Given the description of an element on the screen output the (x, y) to click on. 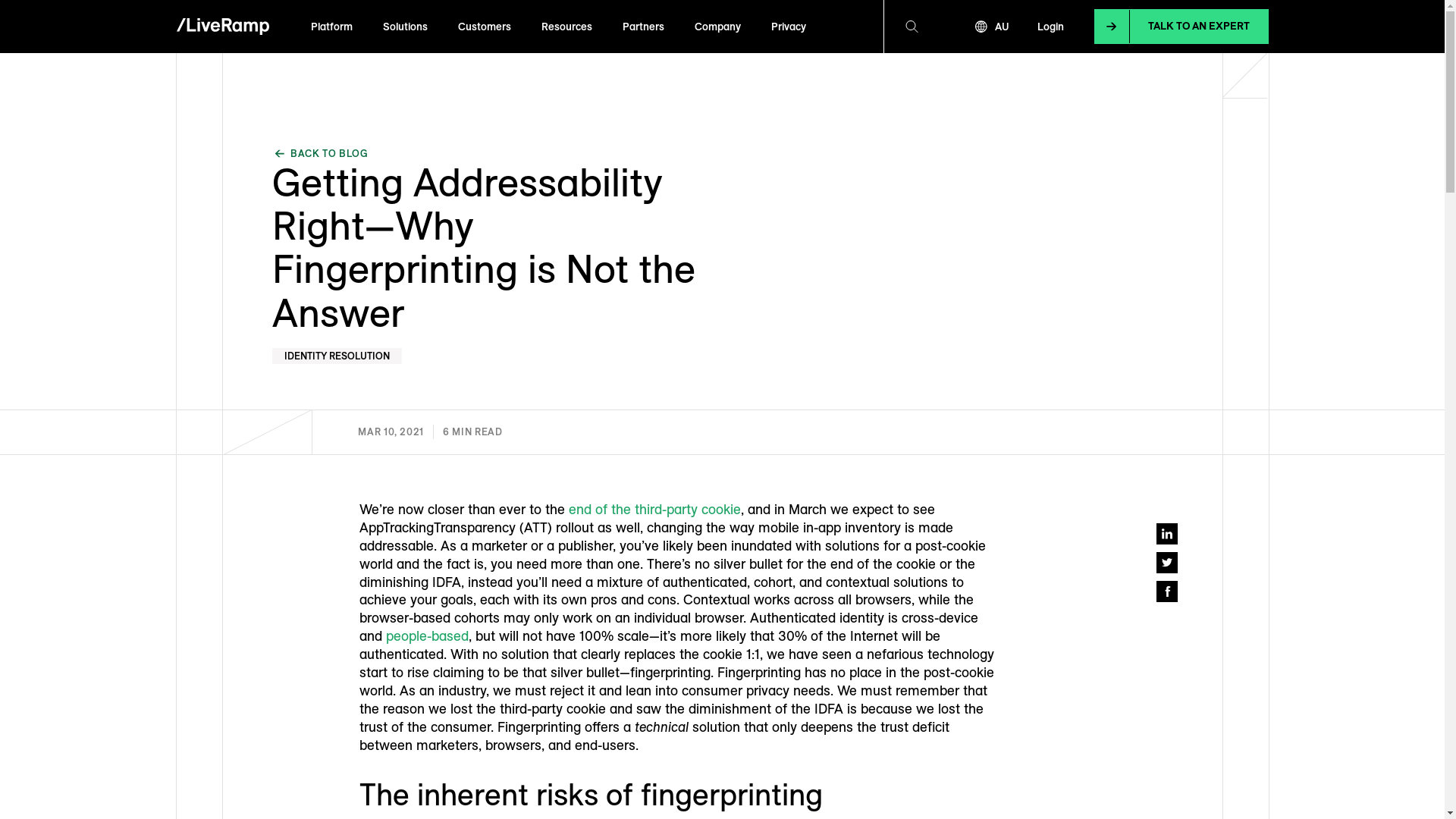
Resources Element type: text (566, 26)
people-based Element type: text (426, 635)
/LiveRamp Element type: text (221, 26)
Login Element type: text (1050, 26)
Share on facebook Element type: text (1165, 591)
Partners Element type: text (642, 26)
TALK TO AN EXPERT Element type: text (1180, 26)
Company Element type: text (717, 26)
Share on twitter Element type: text (1165, 562)
Customers Element type: text (484, 26)
Privacy Element type: text (787, 26)
Share on linkedin Element type: text (1165, 533)
IDENTITY RESOLUTION Element type: text (336, 356)
AU Element type: text (992, 26)
Platform Element type: text (331, 26)
BACK TO BLOG Element type: text (320, 153)
Solutions Element type: text (404, 26)
end of the third-party cookie Element type: text (654, 508)
